Given the description of an element on the screen output the (x, y) to click on. 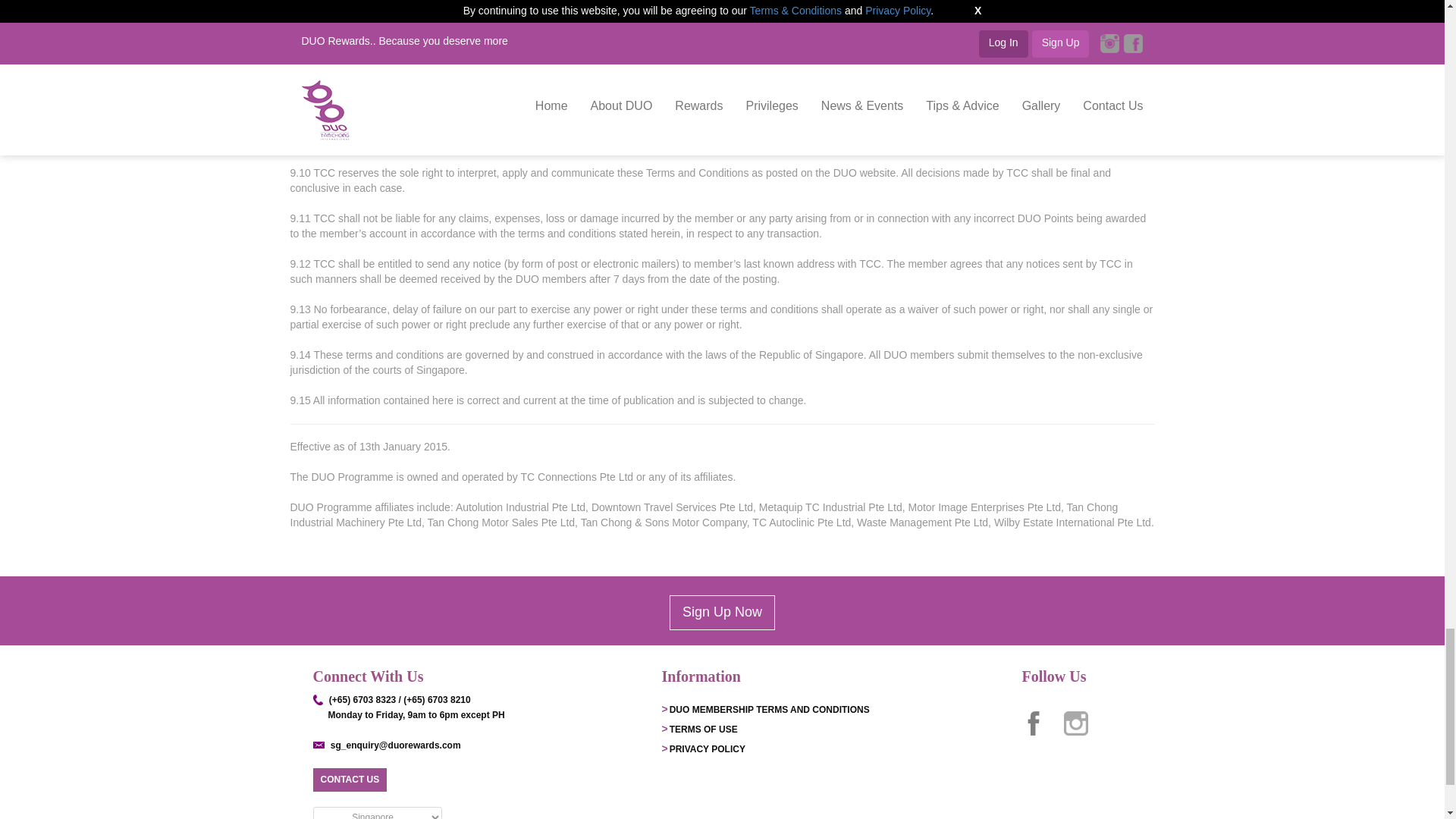
Sign Up Now (721, 612)
CONTACT US (349, 775)
